Given the description of an element on the screen output the (x, y) to click on. 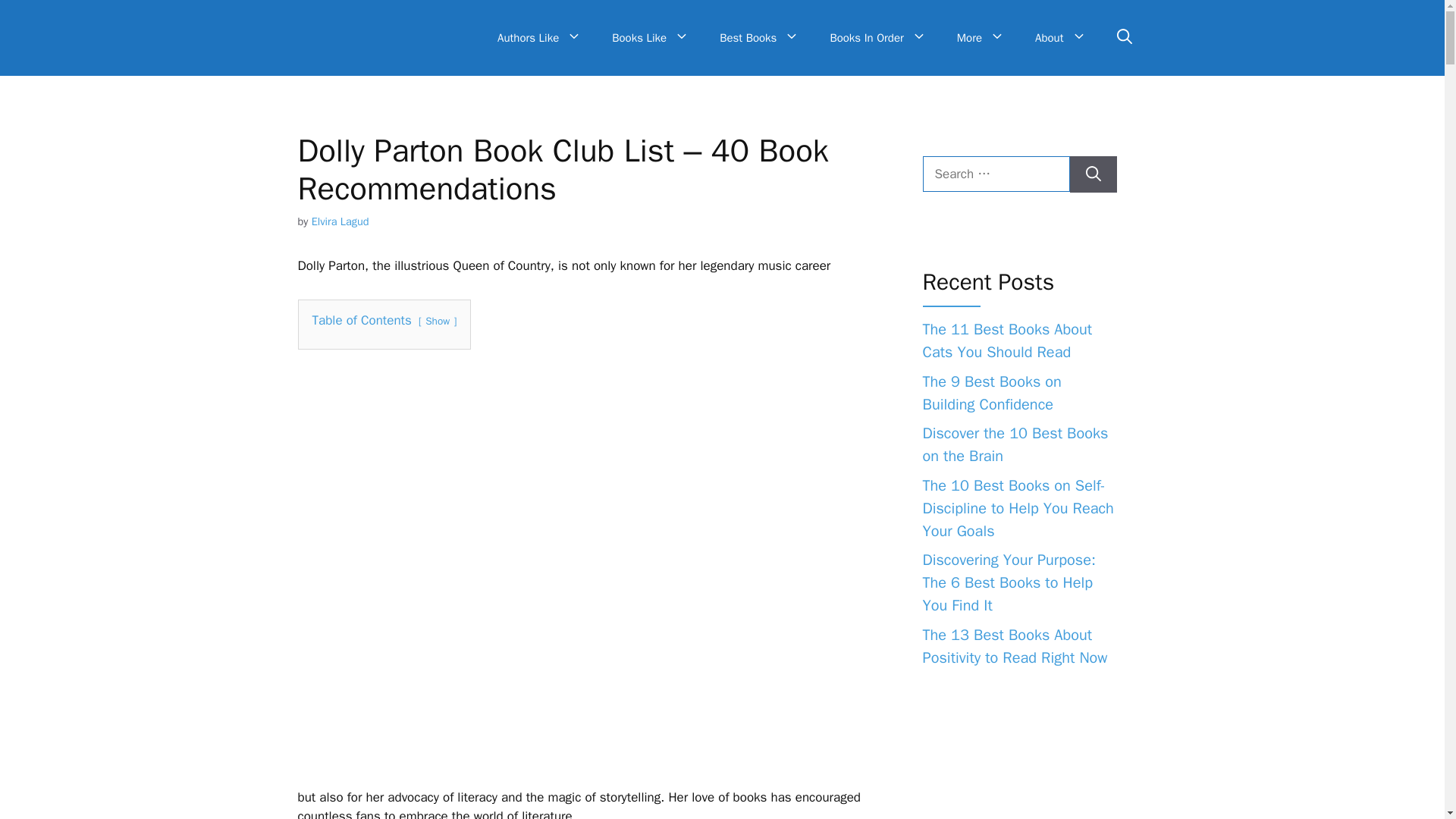
View all posts by Elvira Lagud (340, 221)
Authors Like (538, 37)
Best Books (758, 37)
Books Like (650, 37)
